Given the description of an element on the screen output the (x, y) to click on. 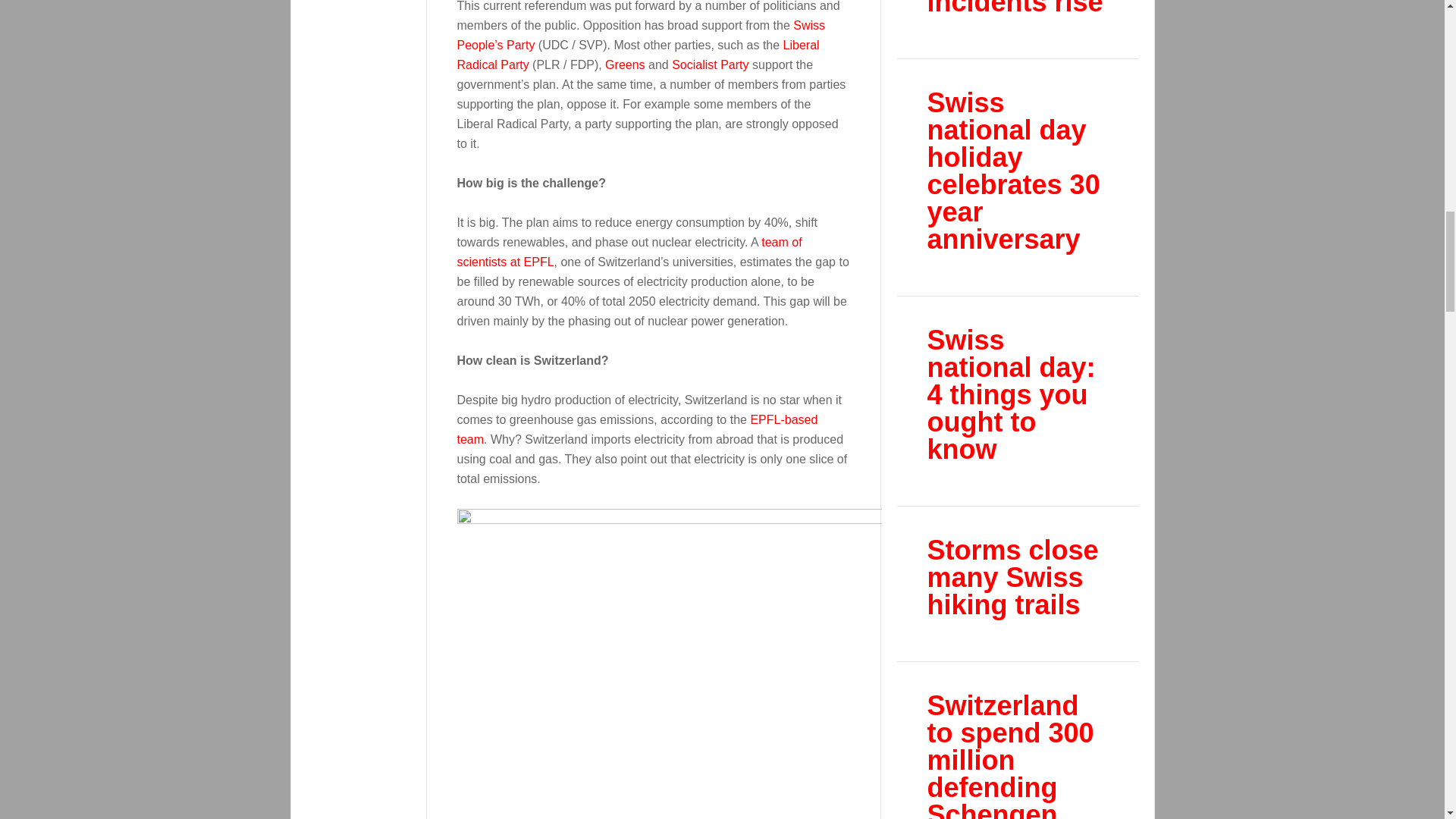
Liberal Radical Party (637, 54)
Greens (625, 64)
